Given the description of an element on the screen output the (x, y) to click on. 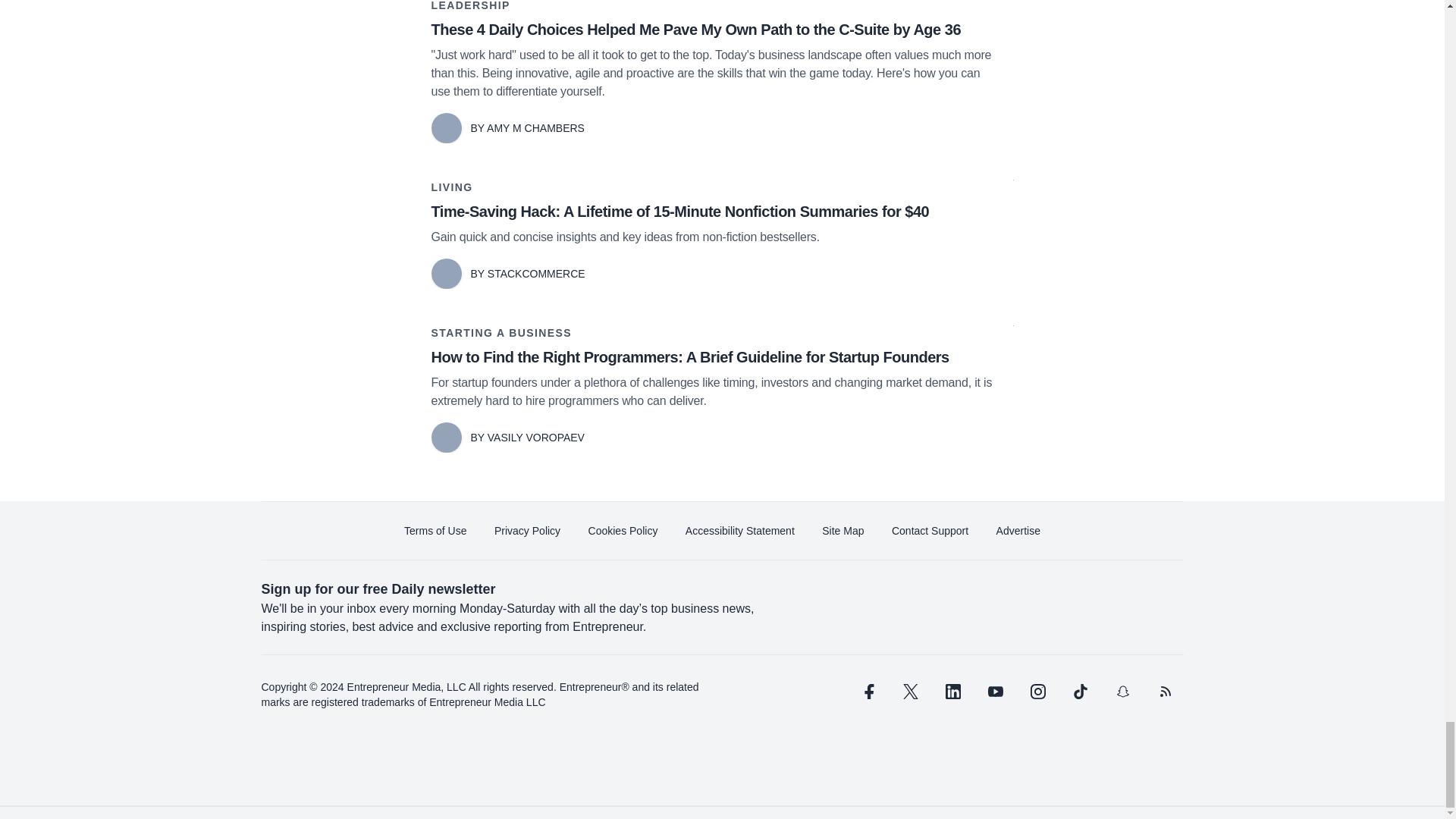
facebook (866, 691)
linkedin (952, 691)
snapchat (1121, 691)
youtube (994, 691)
twitter (909, 691)
instagram (1037, 691)
tiktok (1079, 691)
